Given the description of an element on the screen output the (x, y) to click on. 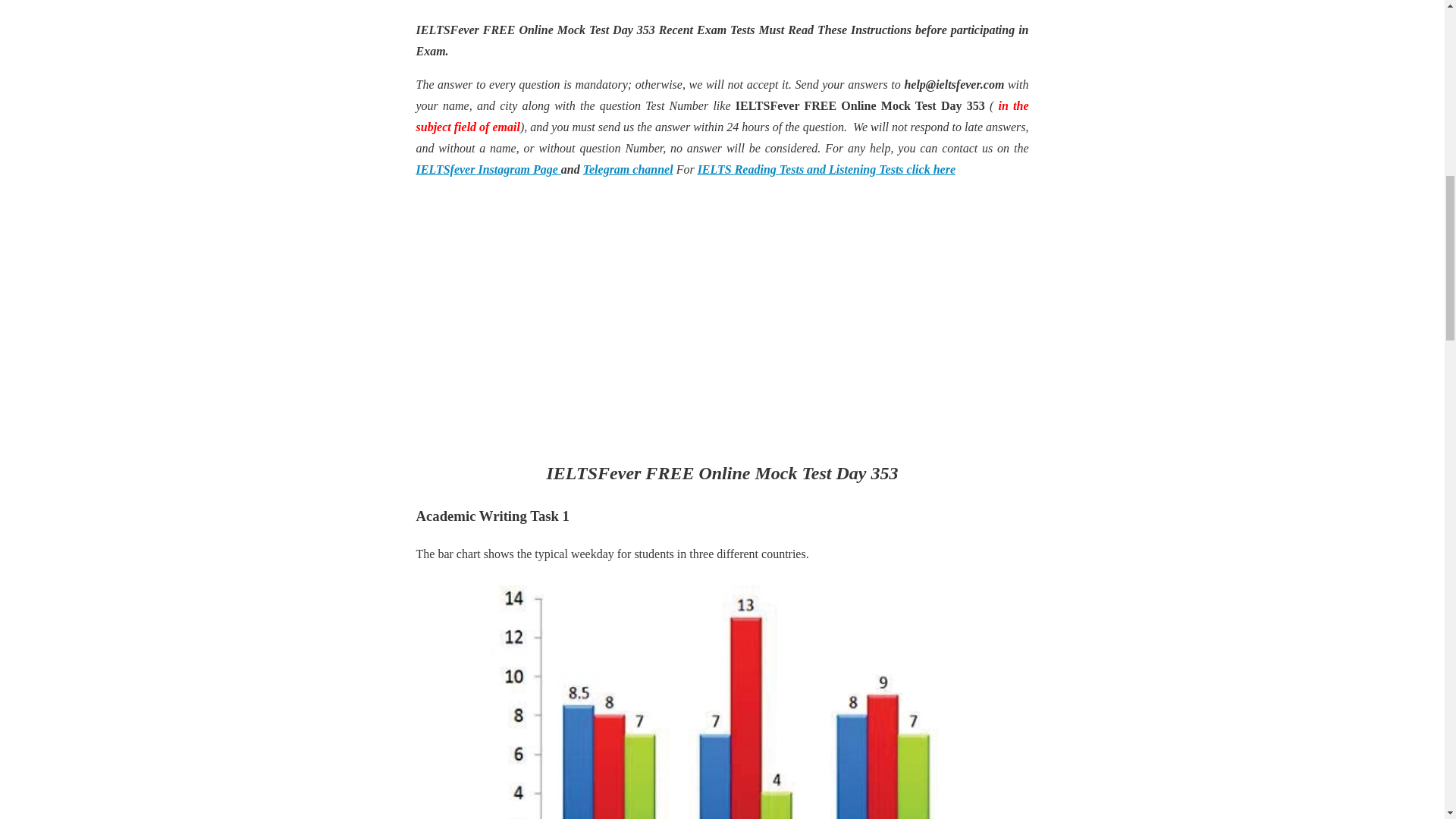
Telegram channel (627, 169)
IELTS Reading Tests and Listening Tests click here (826, 169)
IELTSfever Instagram Page  (487, 169)
